Given the description of an element on the screen output the (x, y) to click on. 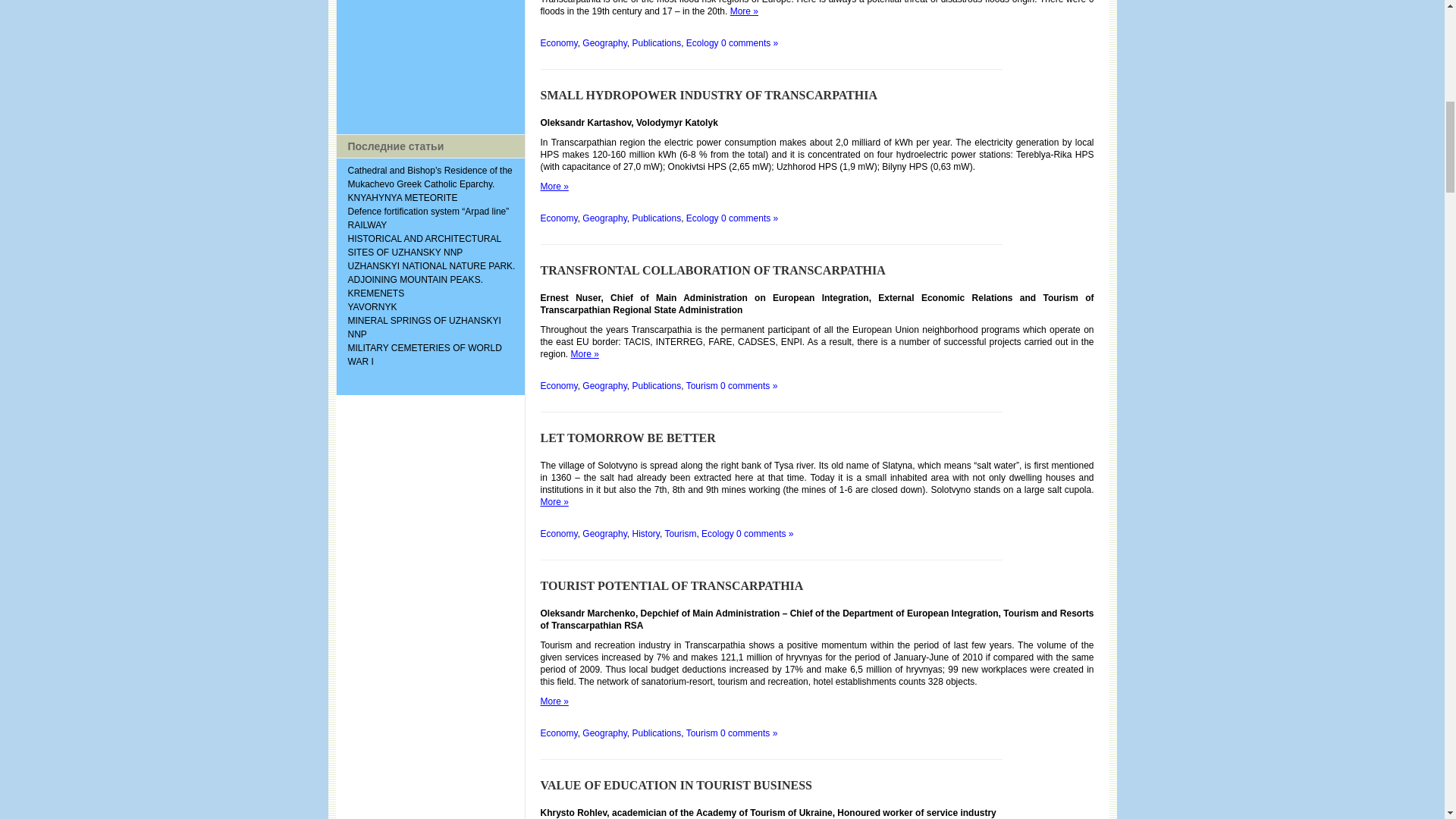
HISTORICAL AND ARCHITECTURAL SITES OF UZHANSKY NNP (423, 245)
KNYAHYNYA METEORITE (402, 197)
MILITARY CEMETERIES OF WORLD WAR I (423, 354)
UZHANSKYI NATIONAL NATURE PARK. ADJOINING MOUNTAIN PEAKS. (431, 273)
YAVORNYK (371, 307)
RAILWAY (367, 225)
MINERAL SPRINGS OF UZHANSKYI NNP (423, 327)
KREMENETS (375, 293)
